Given the description of an element on the screen output the (x, y) to click on. 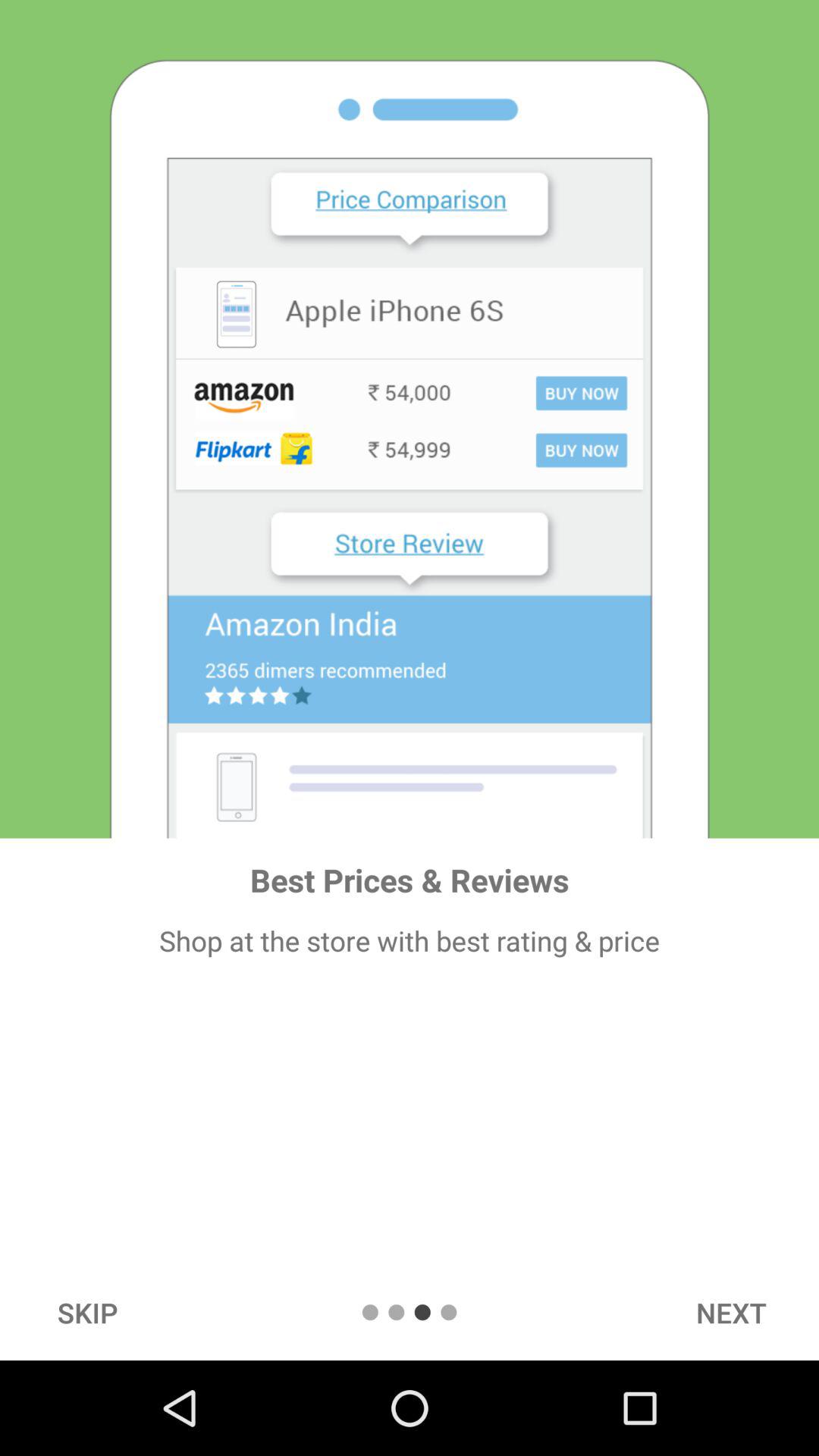
turn on the icon below the shop at the (731, 1312)
